Given the description of an element on the screen output the (x, y) to click on. 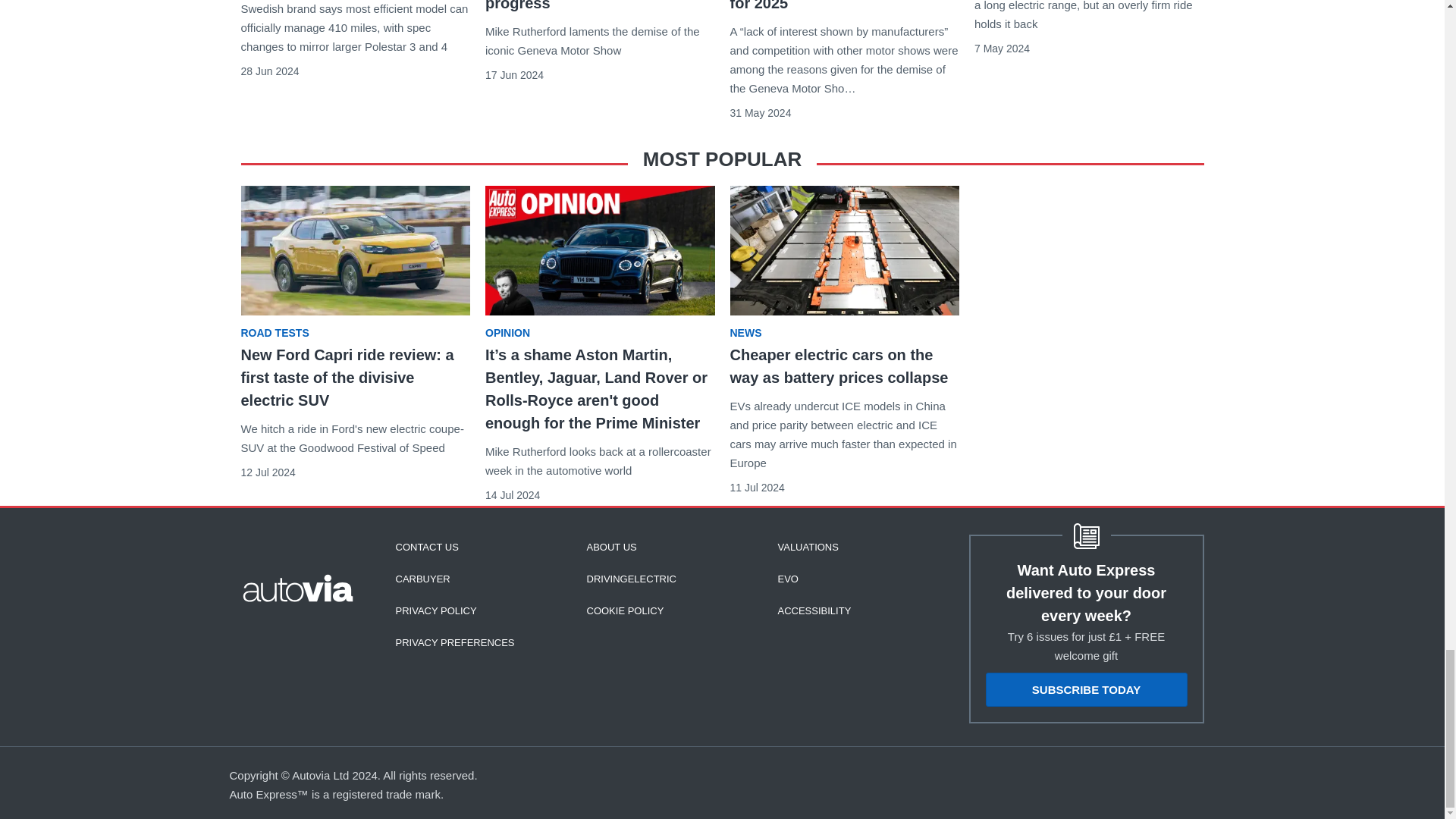
SUBSCRIBE TODAY (1086, 689)
